Given the description of an element on the screen output the (x, y) to click on. 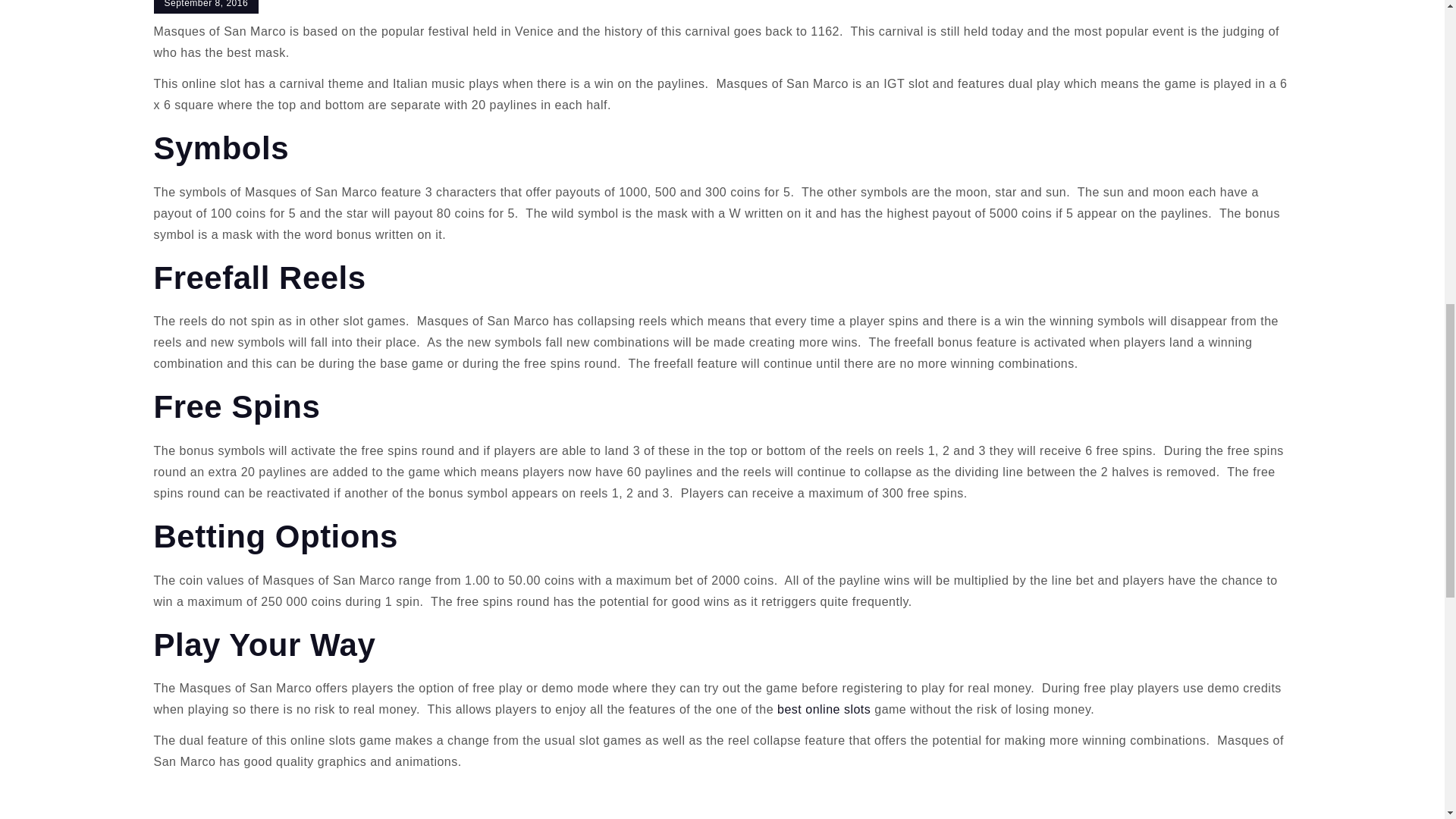
September 8, 2016 (205, 6)
best online slots (826, 708)
